Given the description of an element on the screen output the (x, y) to click on. 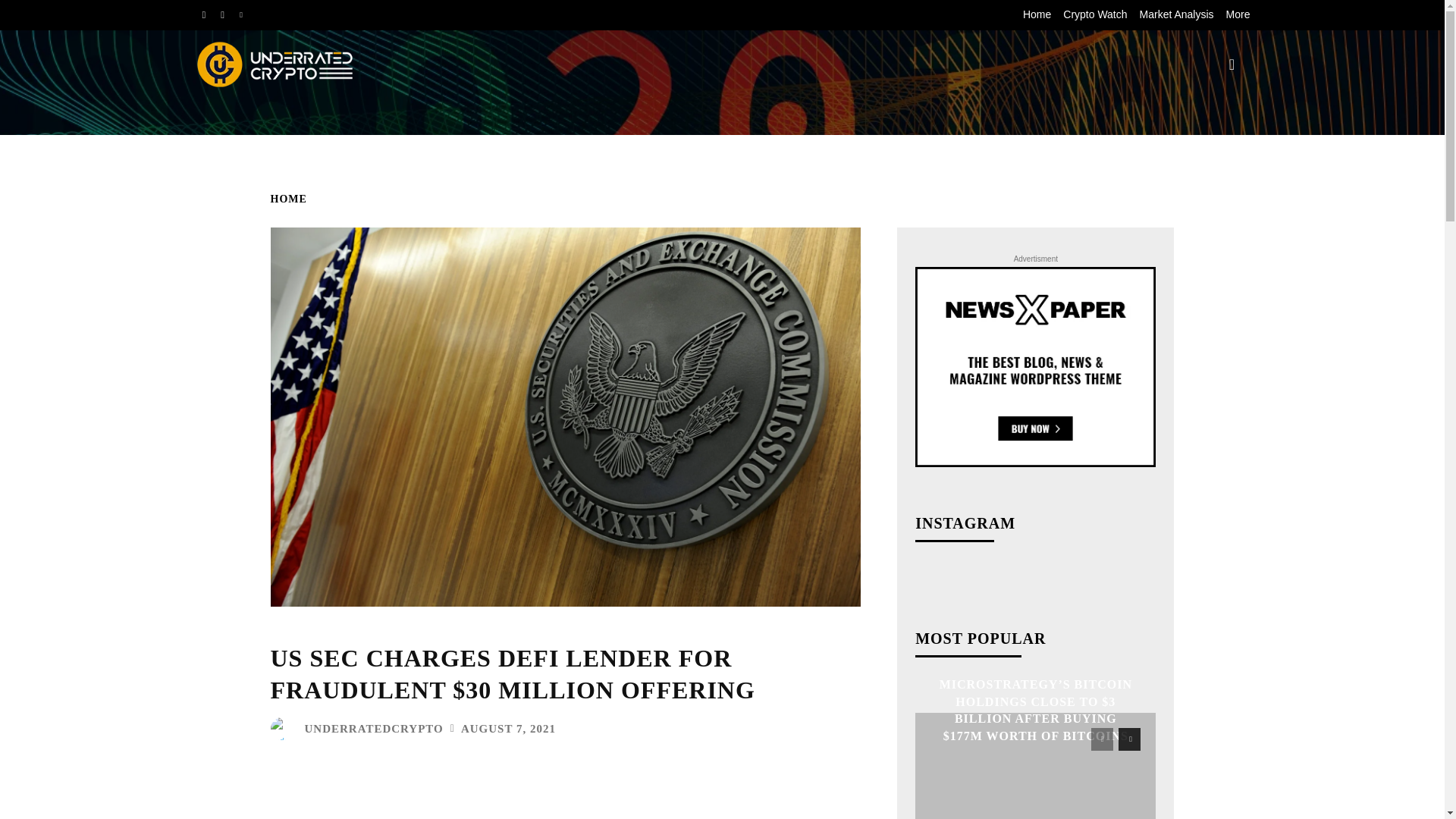
Home (1037, 15)
Instagram (221, 15)
Twitter (240, 15)
Crypto Watch (1094, 15)
Facebook (202, 15)
Market Analysis (1177, 15)
